Given the description of an element on the screen output the (x, y) to click on. 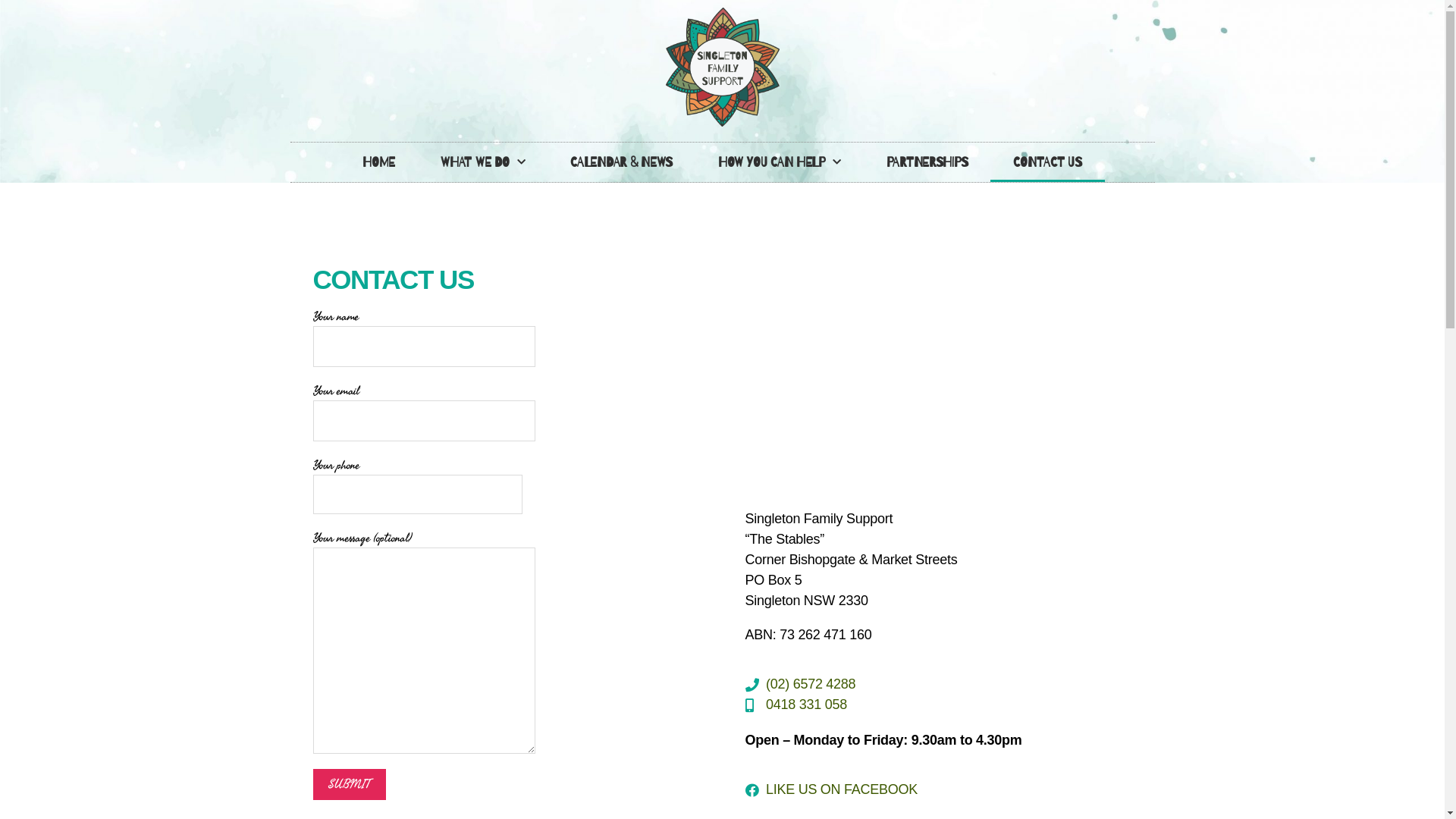
WHAT WE DO Element type: text (482, 162)
LIKE US ON FACEBOOK Element type: text (937, 789)
HOME Element type: text (378, 162)
SINGLETON FAMILY SUPPORT Element type: hover (937, 379)
HOW YOU CAN HELP Element type: text (778, 162)
PARTNERSHIPS Element type: text (927, 162)
CONTACT US Element type: text (1047, 162)
Submit Element type: text (348, 784)
CALENDAR & NEWS Element type: text (621, 162)
